Given the description of an element on the screen output the (x, y) to click on. 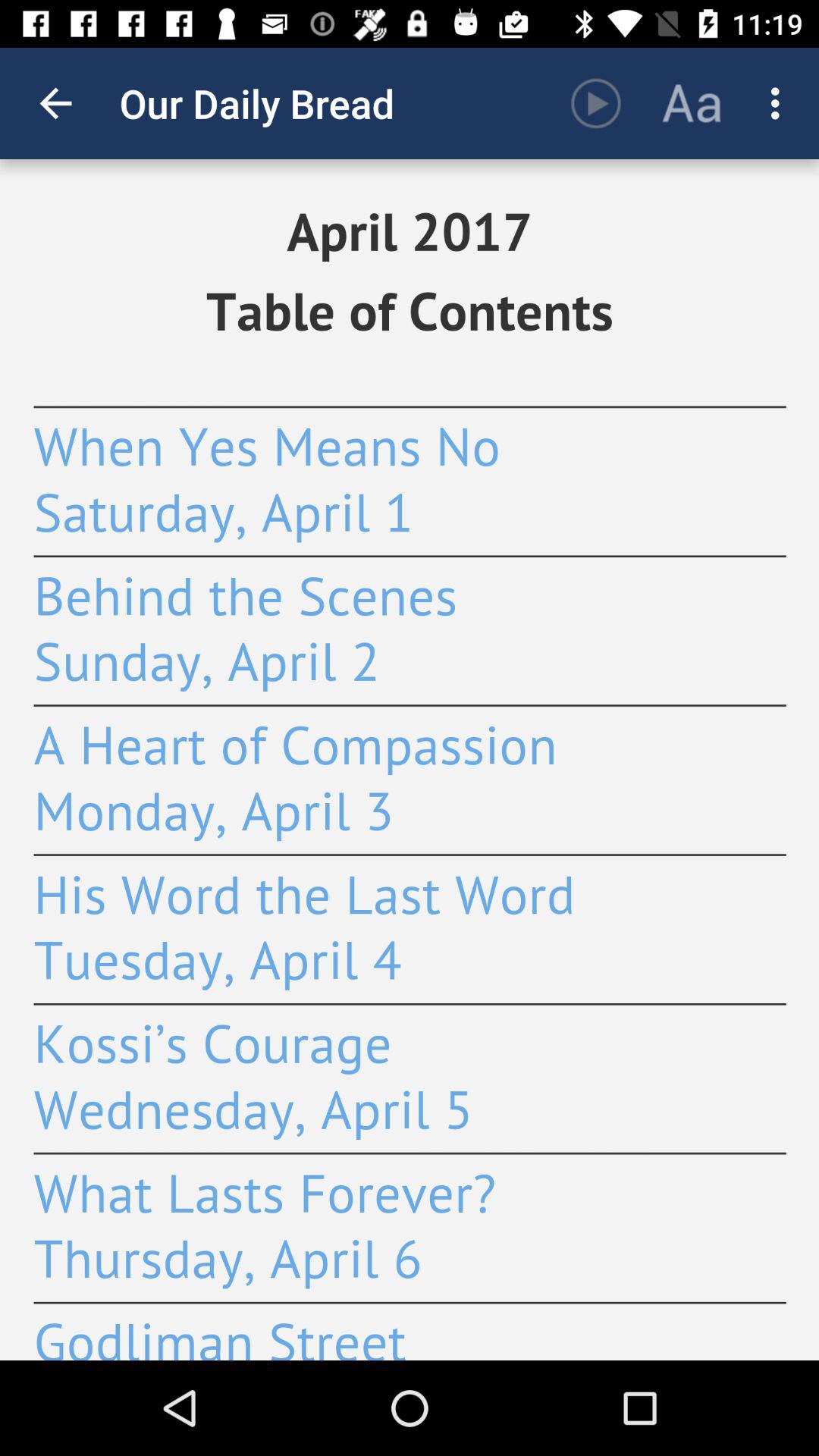
open the item next to the our daily bread app (595, 103)
